Given the description of an element on the screen output the (x, y) to click on. 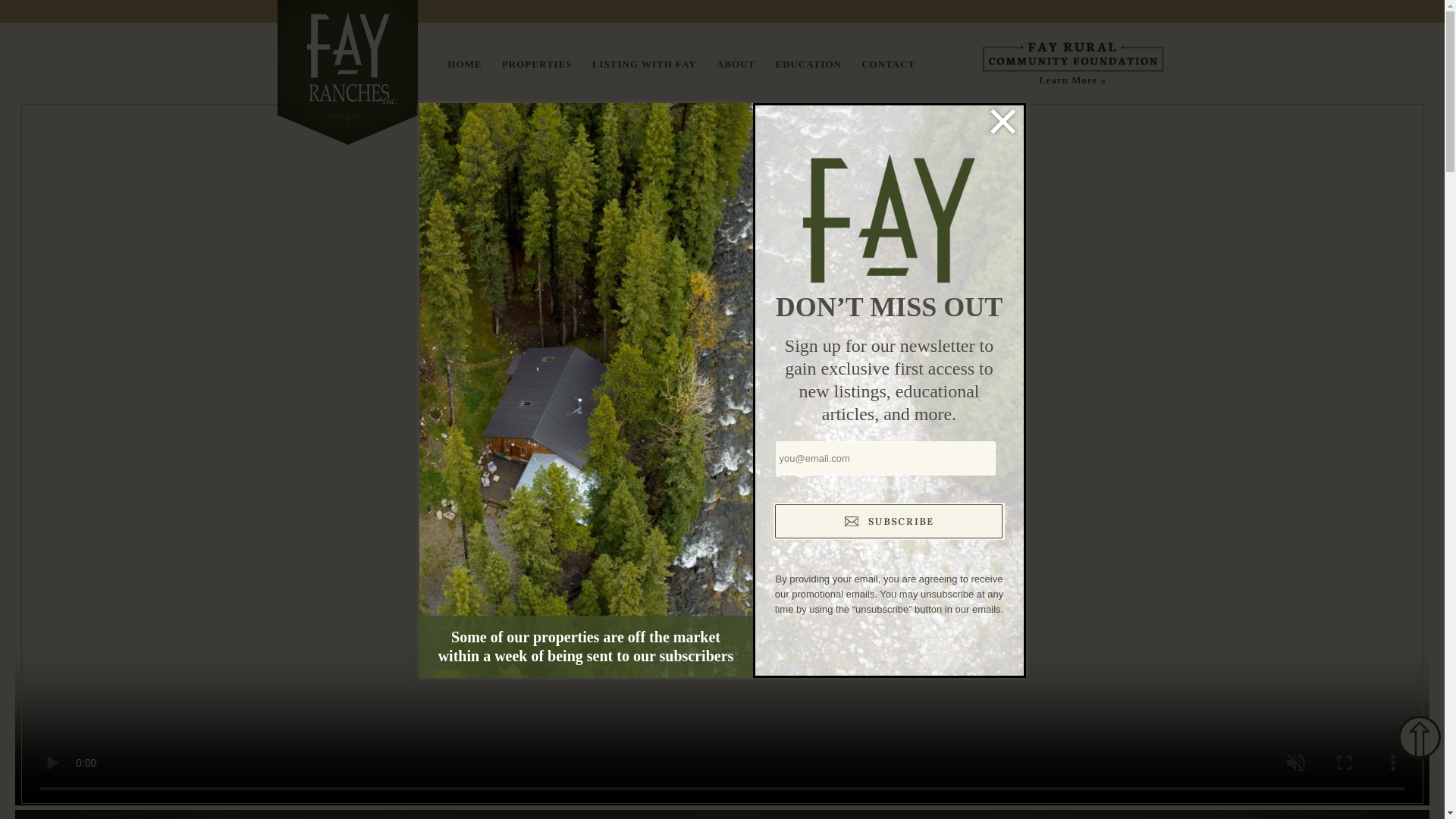
PROPERTIES (537, 63)
Ranches For Sale (537, 63)
Back to Top (1419, 736)
HOME (463, 63)
